Given the description of an element on the screen output the (x, y) to click on. 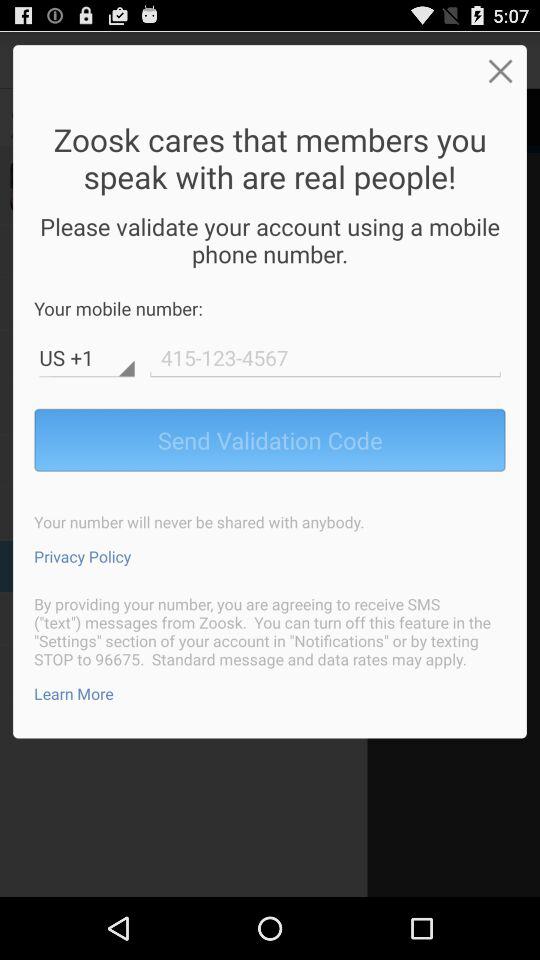
close page (500, 70)
